Given the description of an element on the screen output the (x, y) to click on. 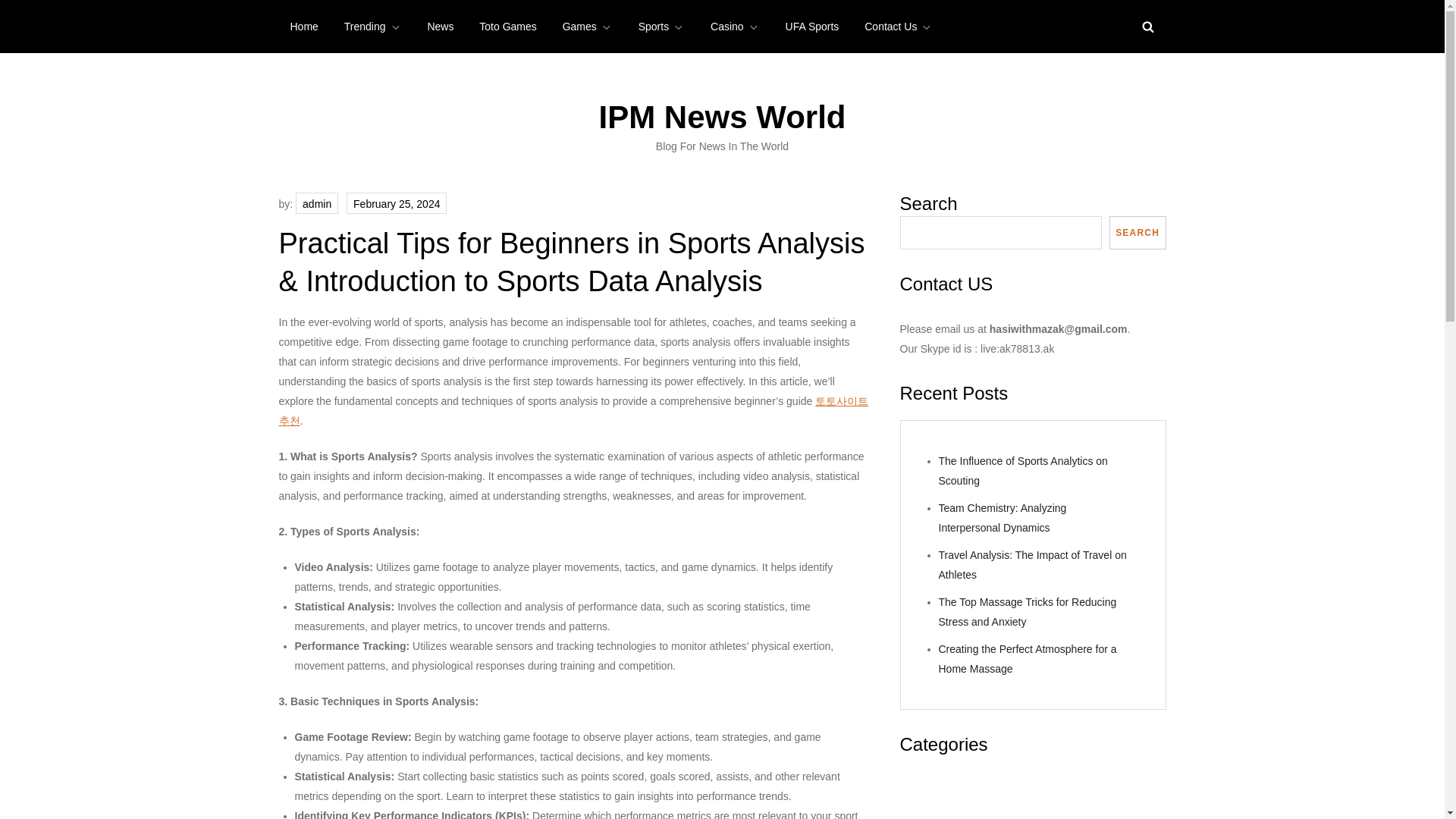
Toto Games (507, 26)
Home (304, 26)
February 25, 2024 (396, 202)
Games (587, 26)
IPM News World (721, 117)
Casino (734, 26)
UFA Sports (812, 26)
Sports (661, 26)
Contact Us (898, 26)
Trending (373, 26)
News (439, 26)
admin (316, 202)
